Given the description of an element on the screen output the (x, y) to click on. 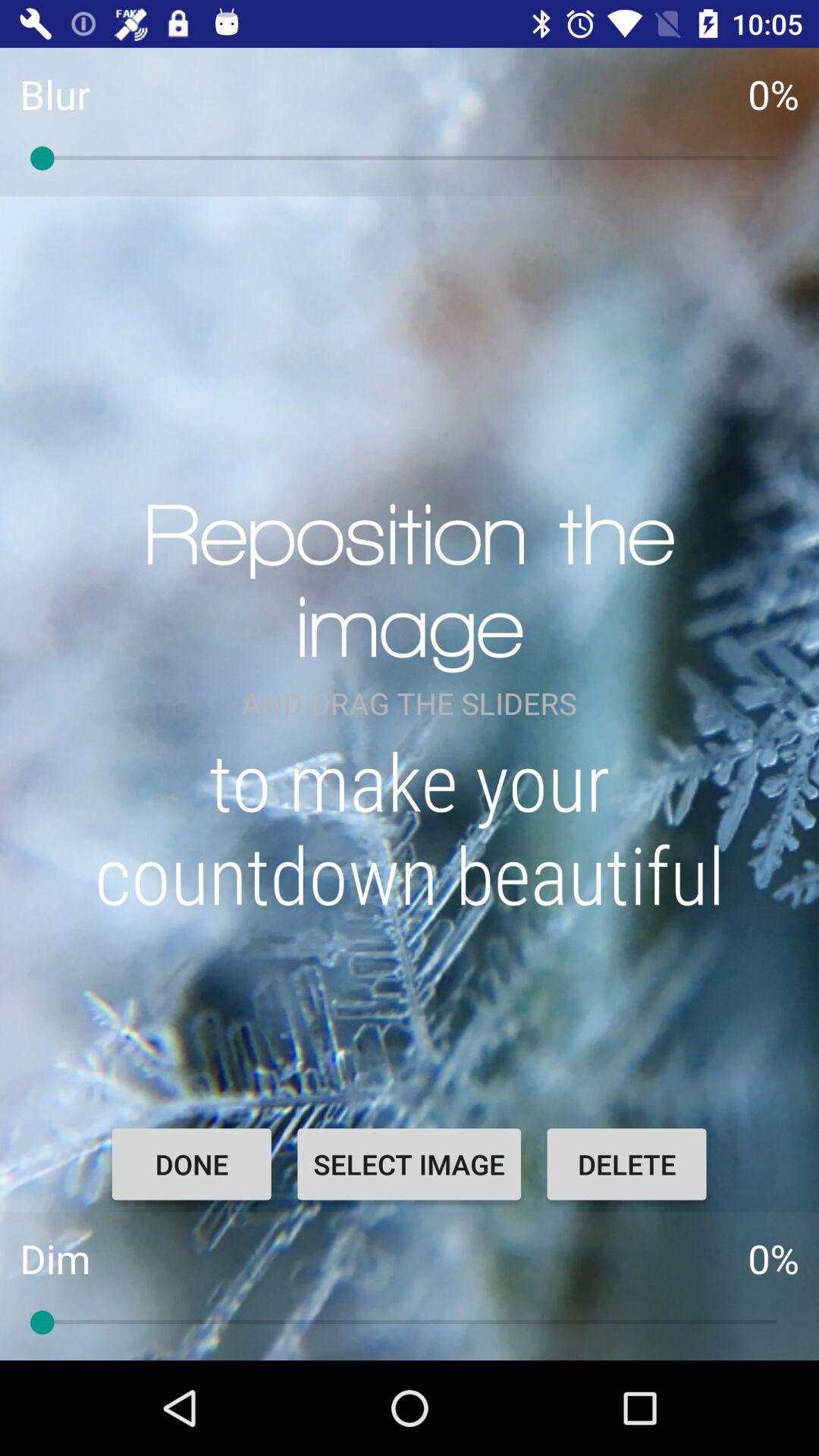
select the icon to the left of select image item (191, 1164)
